Given the description of an element on the screen output the (x, y) to click on. 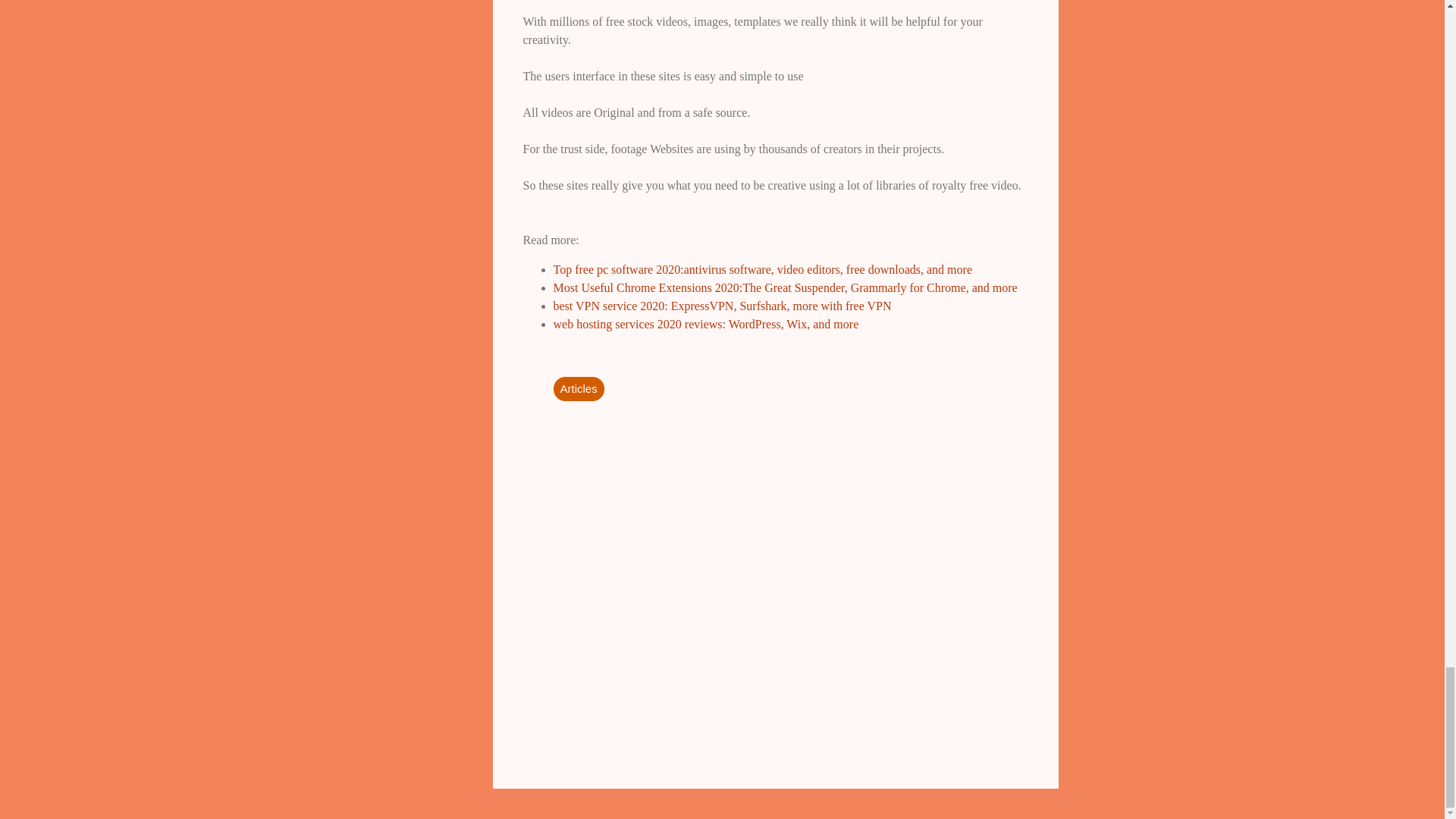
Articles (578, 388)
web hosting services 2020 reviews: WordPress, Wix, and more (706, 323)
